Given the description of an element on the screen output the (x, y) to click on. 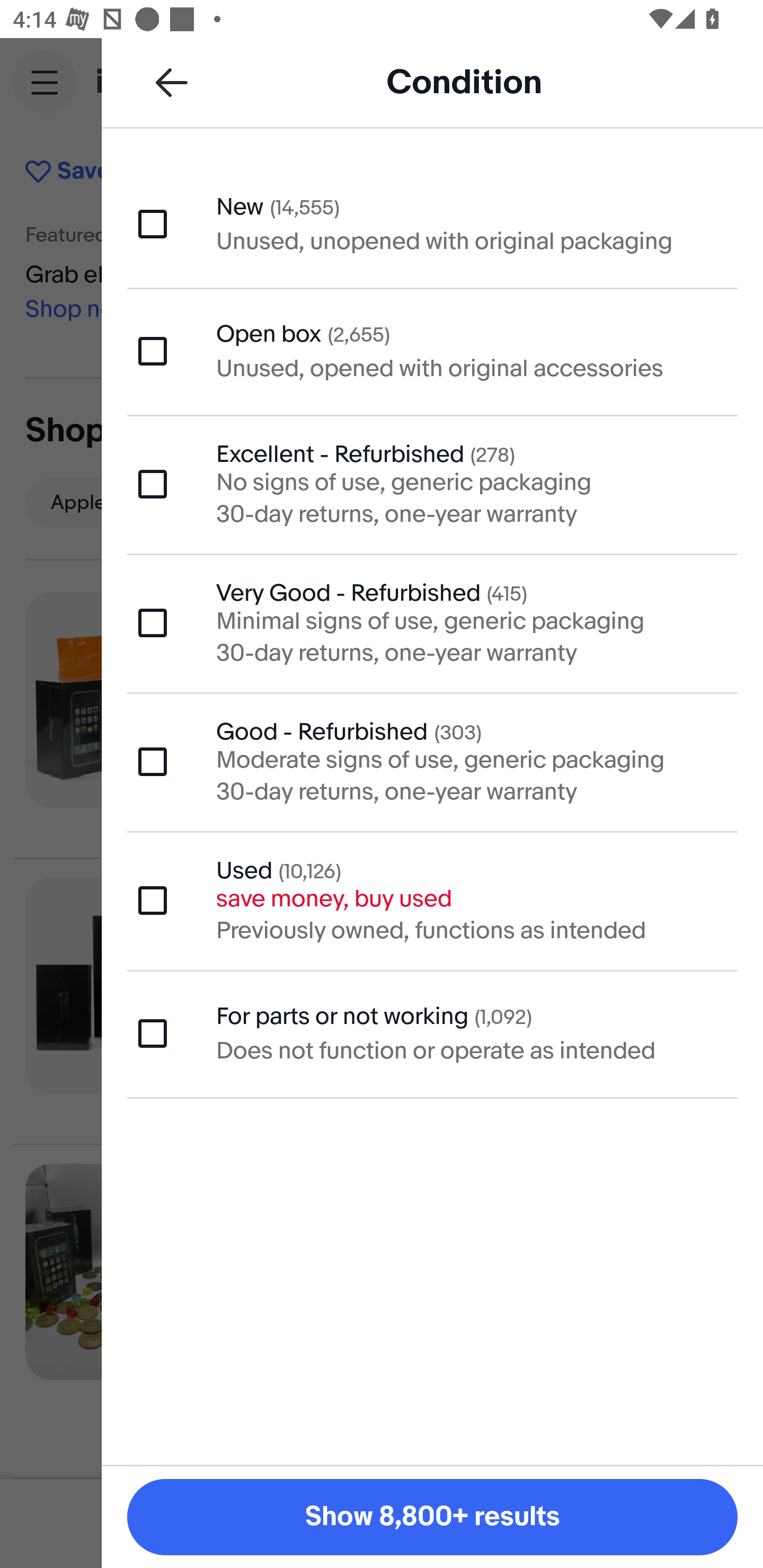
Back to all refinements (171, 81)
Show 8,800+ results (432, 1516)
